Given the description of an element on the screen output the (x, y) to click on. 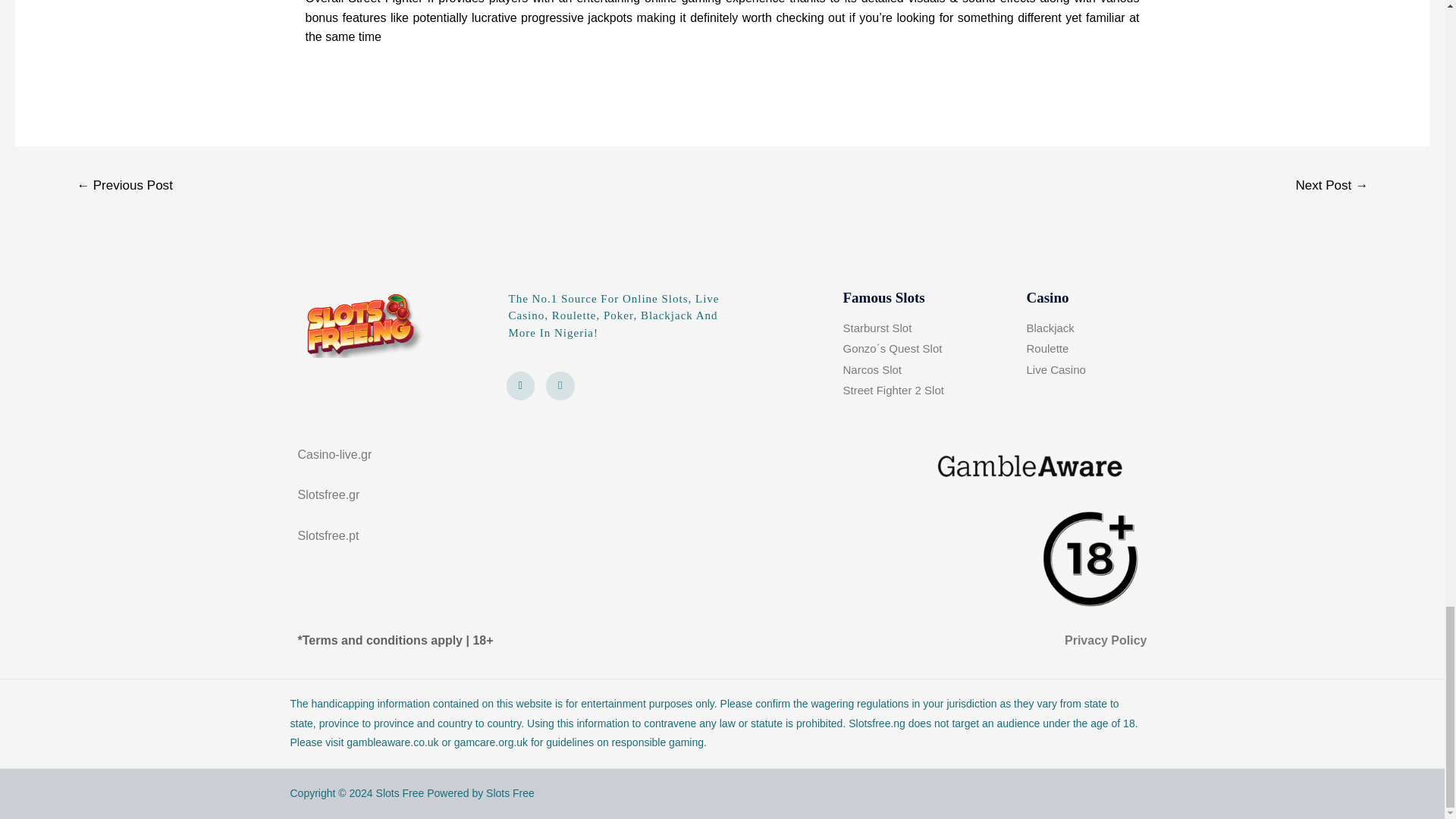
Street Fighter 2 Slot (928, 390)
Slotsfree.gr (328, 494)
Live Casino (1080, 370)
Starburst Slot (928, 328)
Blackjack (1080, 328)
Casino-live.gr (334, 454)
Roulette (1080, 348)
Narcos Slot (928, 370)
